Given the description of an element on the screen output the (x, y) to click on. 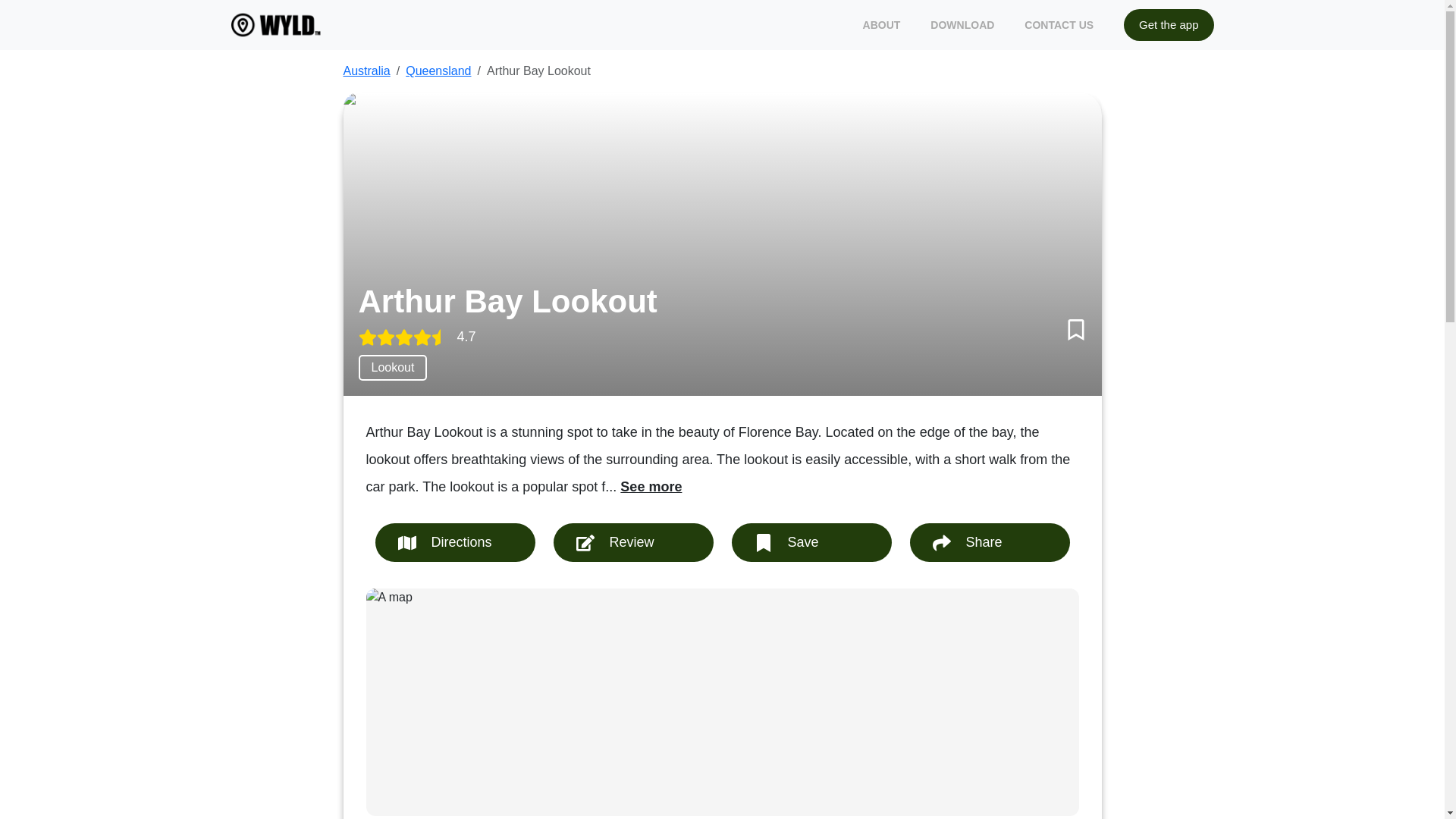
Australia (366, 70)
Directions (454, 542)
CONTACT US (1059, 24)
Get the app (1168, 25)
ABOUT (882, 24)
Queensland (438, 70)
DOWNLOAD (962, 24)
